Given the description of an element on the screen output the (x, y) to click on. 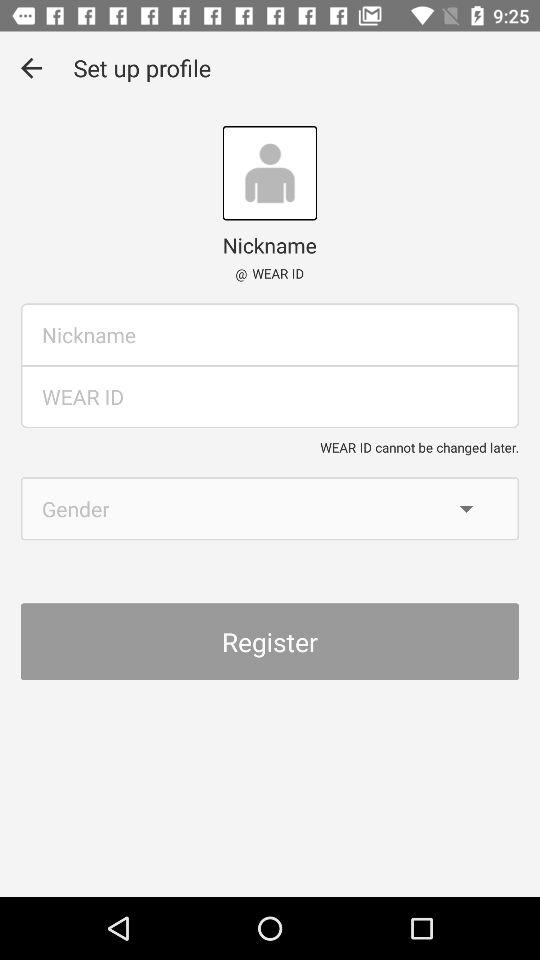
id box (270, 396)
